Given the description of an element on the screen output the (x, y) to click on. 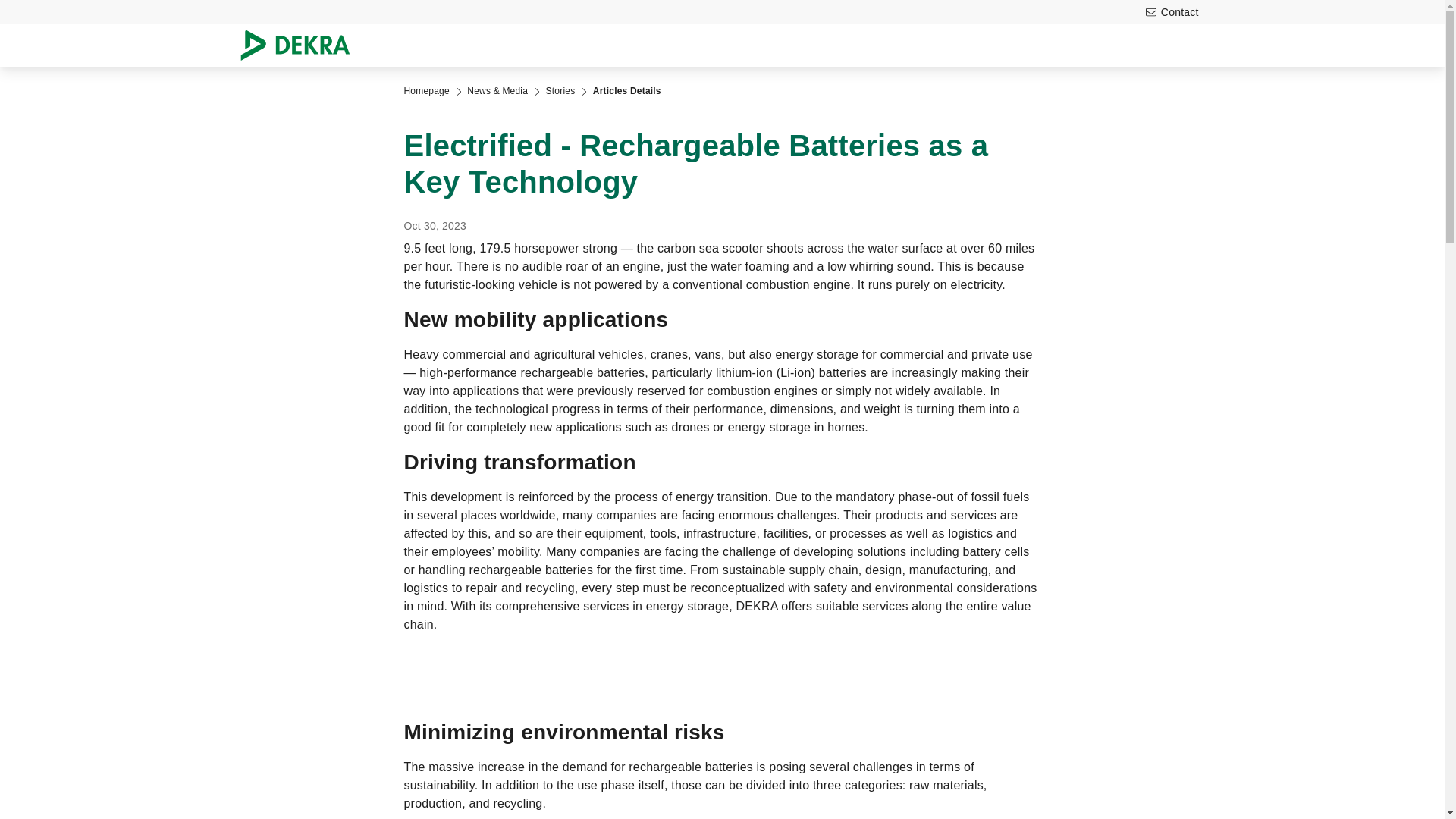
Logo (300, 45)
Contact (1172, 11)
Stories (560, 91)
Homepage (425, 91)
Search (1243, 45)
